Given the description of an element on the screen output the (x, y) to click on. 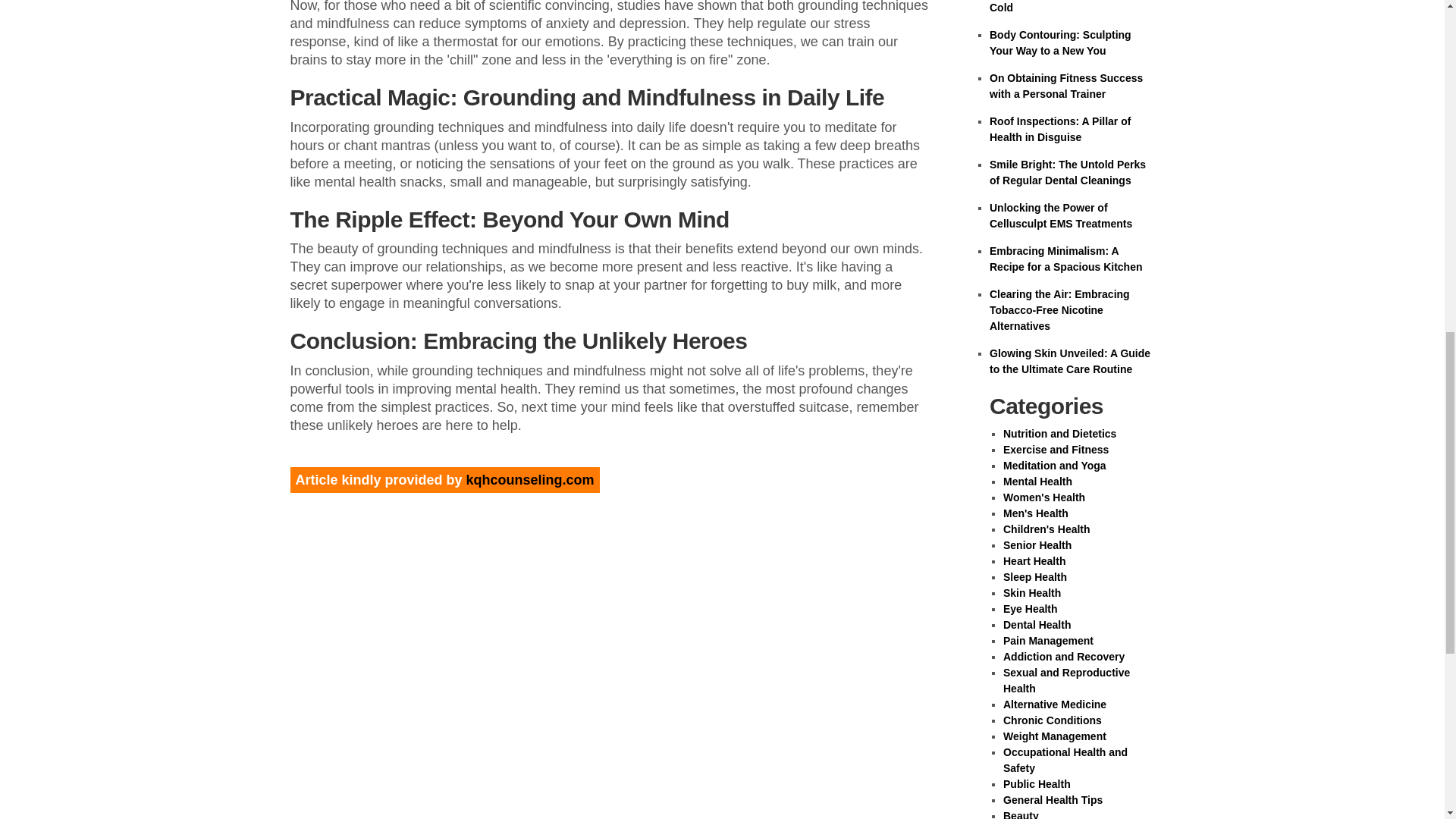
Heart Health (1034, 561)
Exercise and Fitness (1055, 449)
Mental Health (1037, 481)
Roof Inspections: A Pillar of Health in Disguise (1060, 129)
On Obtaining Fitness Success with a Personal Trainer (1066, 85)
Children's Health (1046, 529)
Body Contouring: Sculpting Your Way to a New You (1060, 42)
Unlocking the Power of Cellusculpt EMS Treatments (1061, 215)
